Given the description of an element on the screen output the (x, y) to click on. 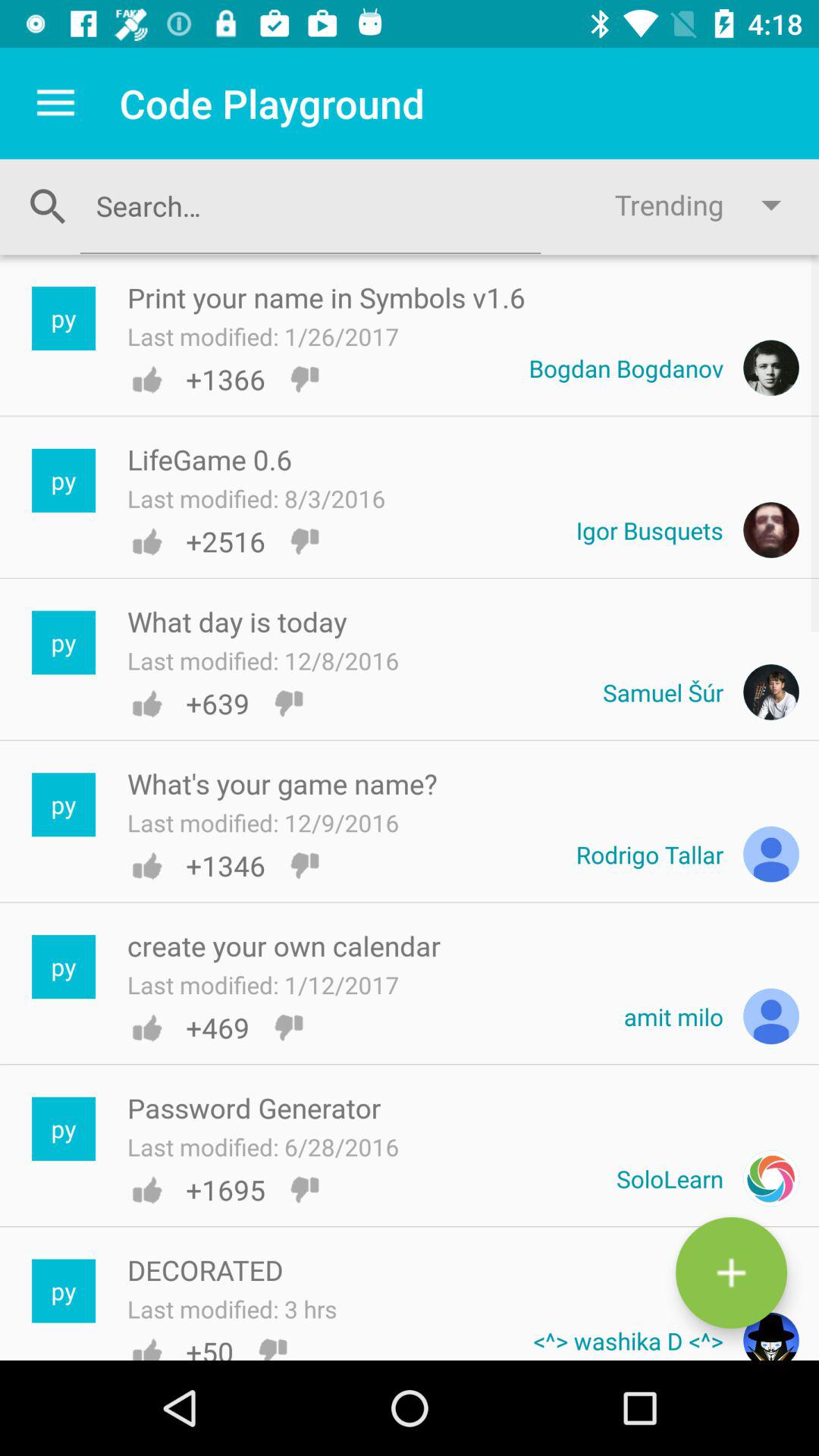
search box (310, 205)
